Given the description of an element on the screen output the (x, y) to click on. 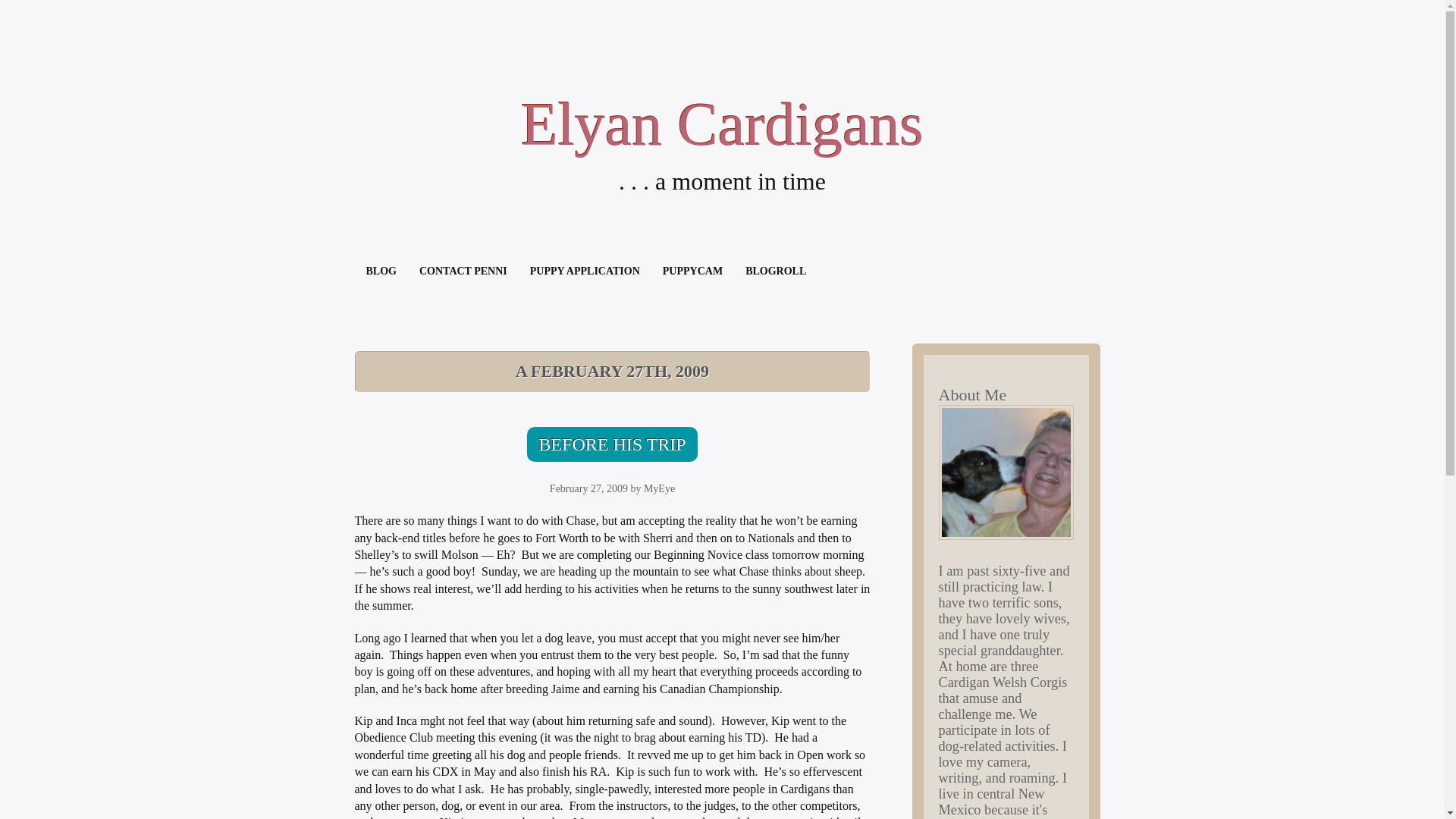
BEFORE HIS TRIP (612, 443)
PUPPY APPLICATION (584, 271)
PUPPYCAM (691, 271)
BLOGROLL (774, 271)
Elyan Cardigans (722, 124)
BLOG (381, 271)
CONTACT PENNI (462, 271)
Elyan Cardigans (722, 124)
